Given the description of an element on the screen output the (x, y) to click on. 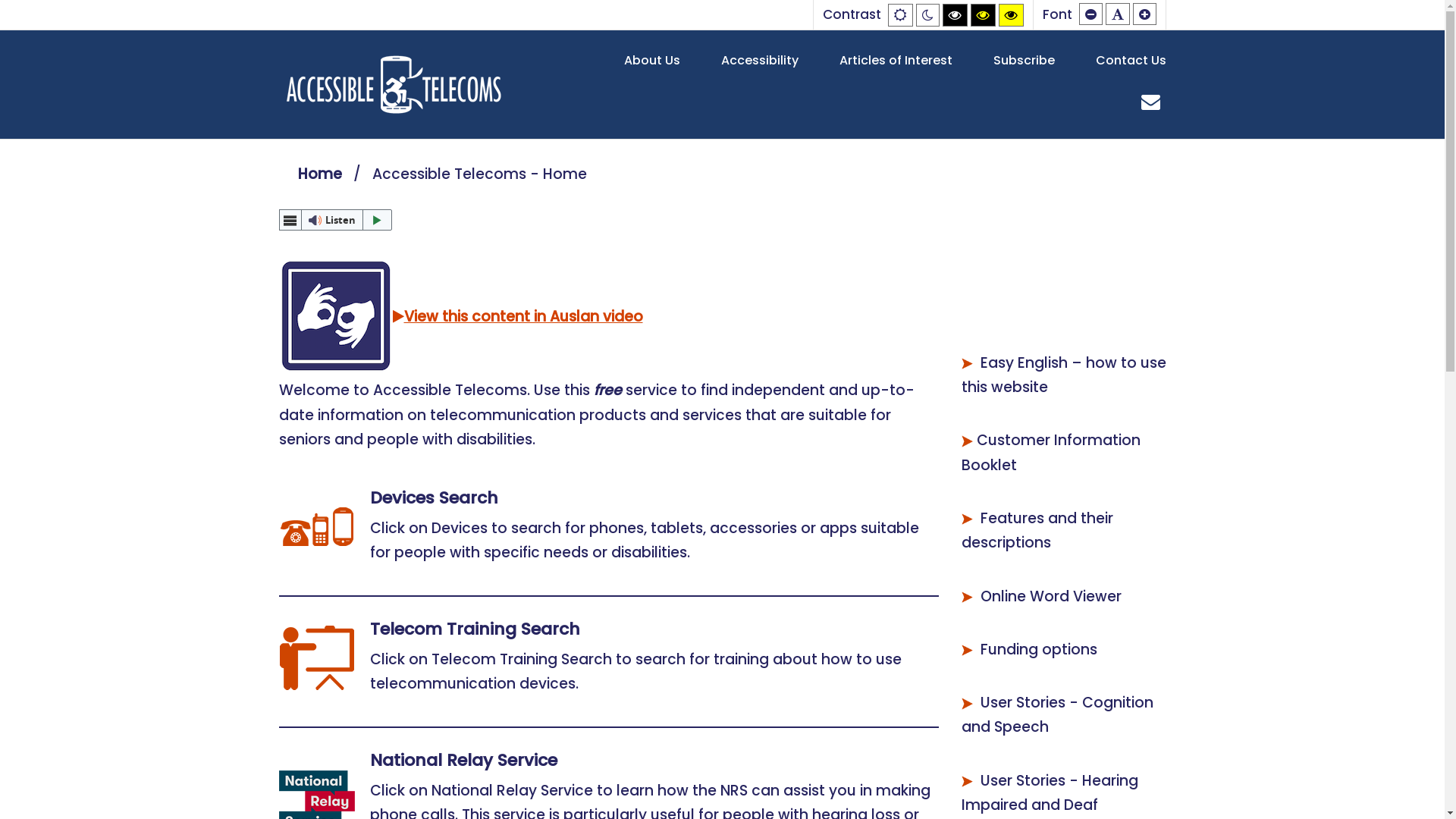
Funding options Element type: text (1037, 649)
Online Word Viewer Element type: text (1049, 596)
Subscribe Element type: text (1023, 60)
User Stories - Cognition and Speech Element type: text (1057, 714)
About Us Element type: text (651, 60)
Features and their descriptions Element type: text (1037, 530)
Contact Us Element type: text (1130, 60)
Home Element type: text (319, 173)
Customer Information Booklet Element type: text (1050, 451)
Default font Element type: text (1117, 14)
Listen Element type: text (335, 219)
User Stories - Hearing Impaired and Deaf Element type: text (1049, 792)
Default mode Element type: text (899, 14)
View this content in Auslan video Element type: text (461, 316)
Articles of Interest Element type: text (894, 60)
Larger font Element type: text (1144, 14)
Accessibility Element type: text (758, 60)
Smaller font Element type: text (1089, 14)
High contrast yellow/black mode. Element type: text (1009, 14)
webReader menu Element type: hover (290, 219)
High contrast black/white mode. Element type: text (953, 14)
High contrast black/yellow mode. Element type: text (982, 14)
Night mode Element type: text (927, 14)
Email Element type: hover (1150, 102)
